Given the description of an element on the screen output the (x, y) to click on. 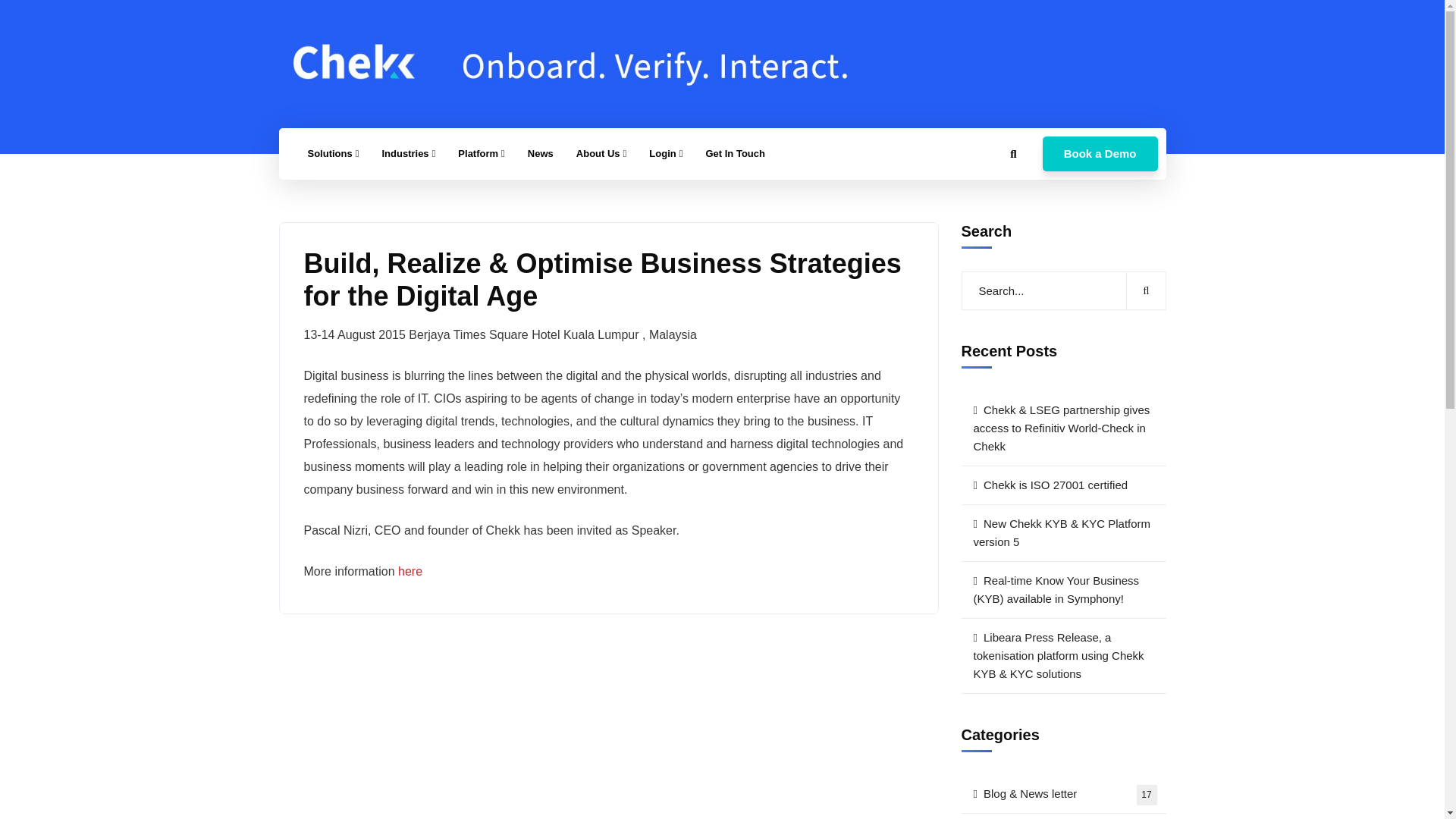
Solutions (332, 153)
Chekk (574, 63)
Industries (407, 153)
Platform (480, 153)
About Us (601, 153)
News (540, 153)
